Given the description of an element on the screen output the (x, y) to click on. 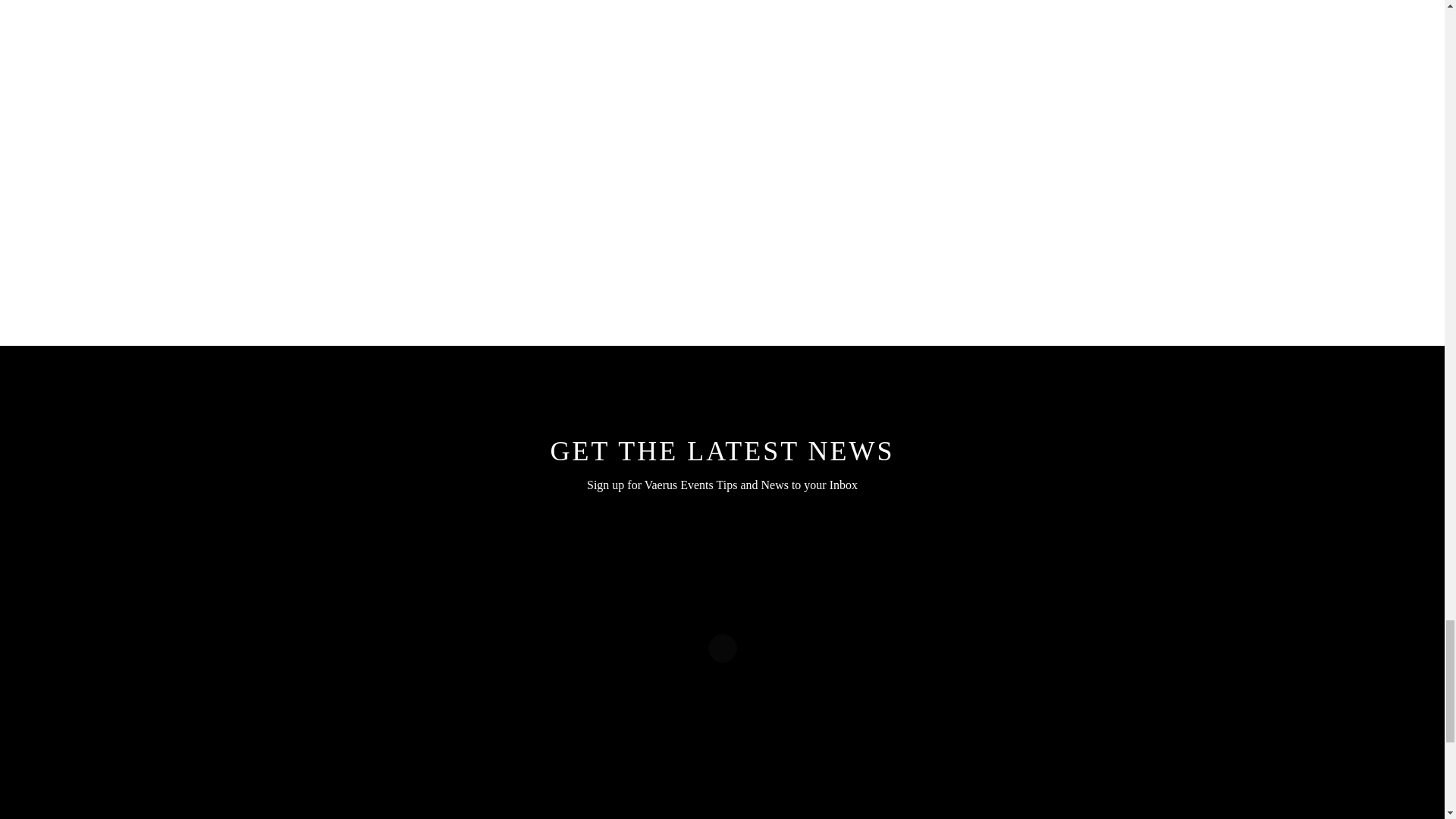
Submit (914, 120)
